Given the description of an element on the screen output the (x, y) to click on. 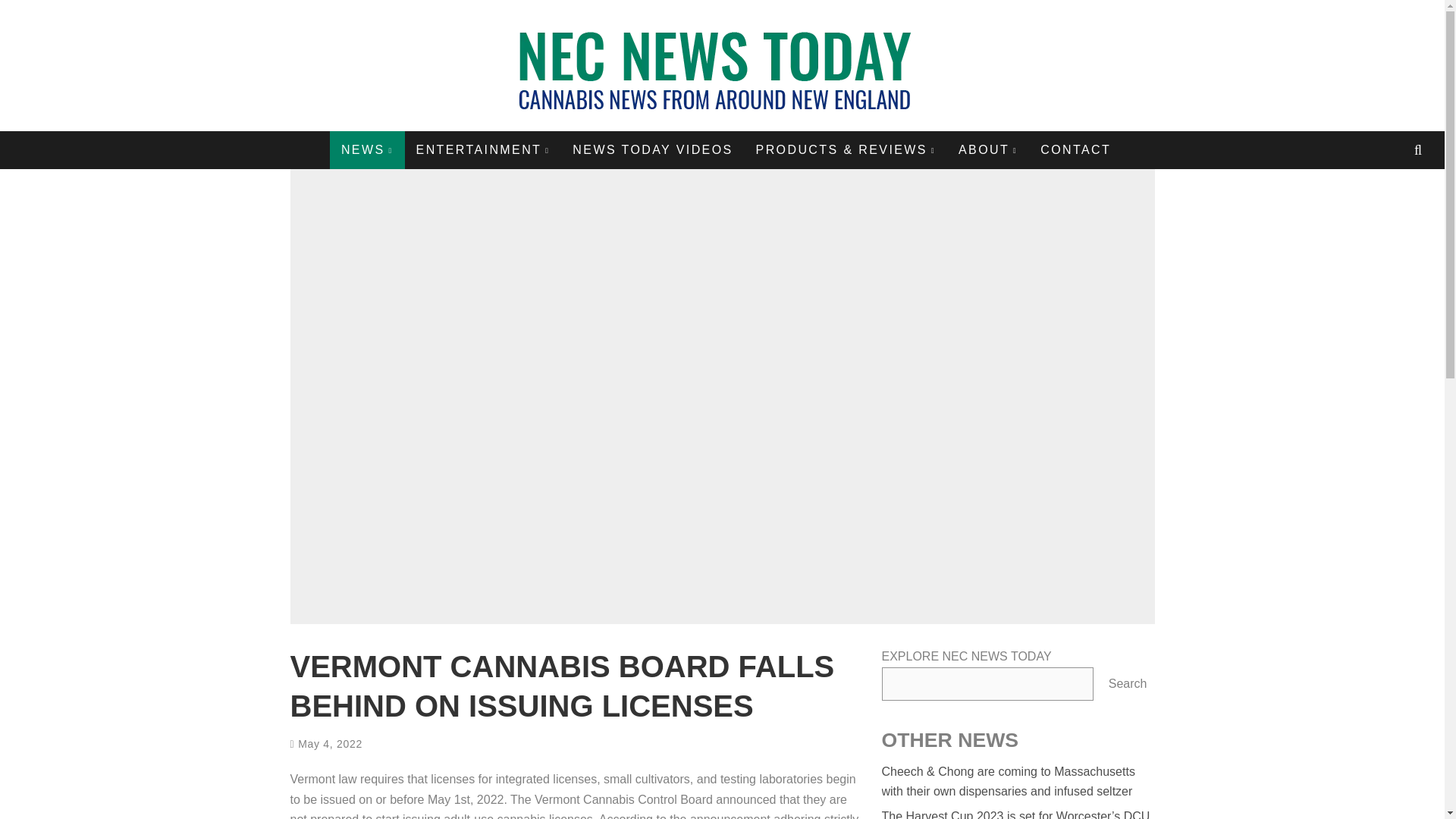
NEWS (367, 149)
ENTERTAINMENT (483, 149)
NEWS TODAY VIDEOS (652, 149)
CONTACT (1075, 149)
ABOUT (988, 149)
Search (1127, 684)
